Given the description of an element on the screen output the (x, y) to click on. 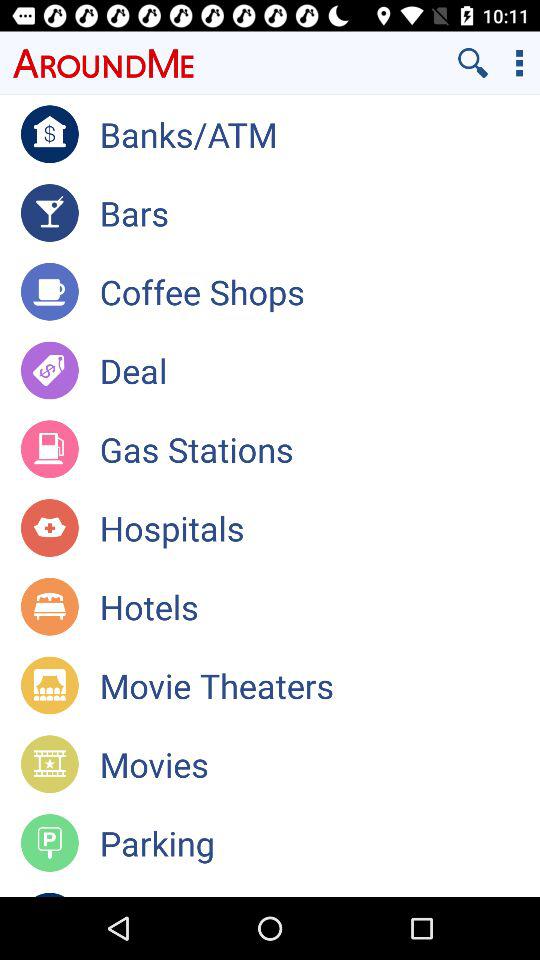
open the item below banks/atm (319, 212)
